Given the description of an element on the screen output the (x, y) to click on. 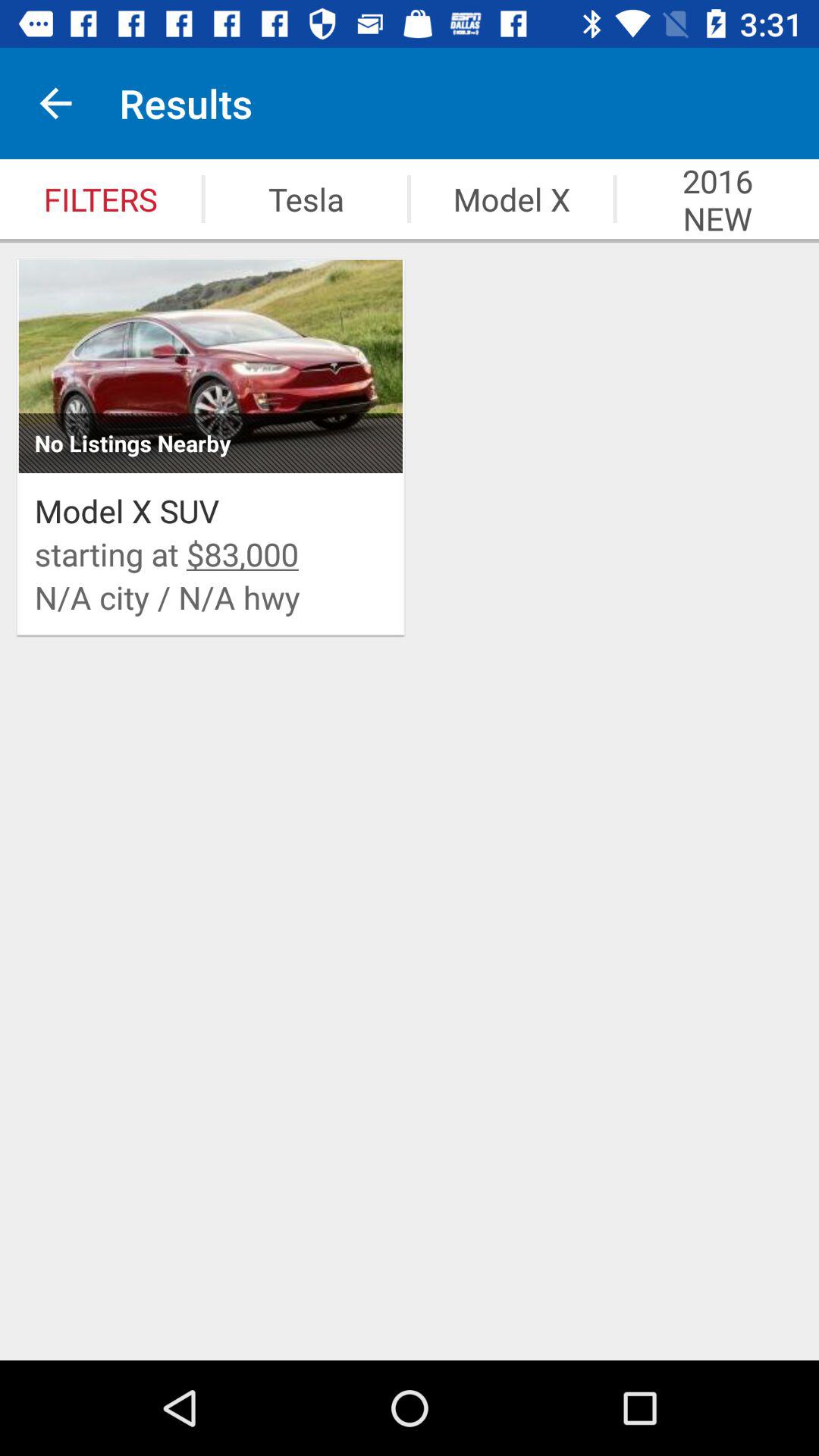
launch icon next to results item (55, 103)
